Given the description of an element on the screen output the (x, y) to click on. 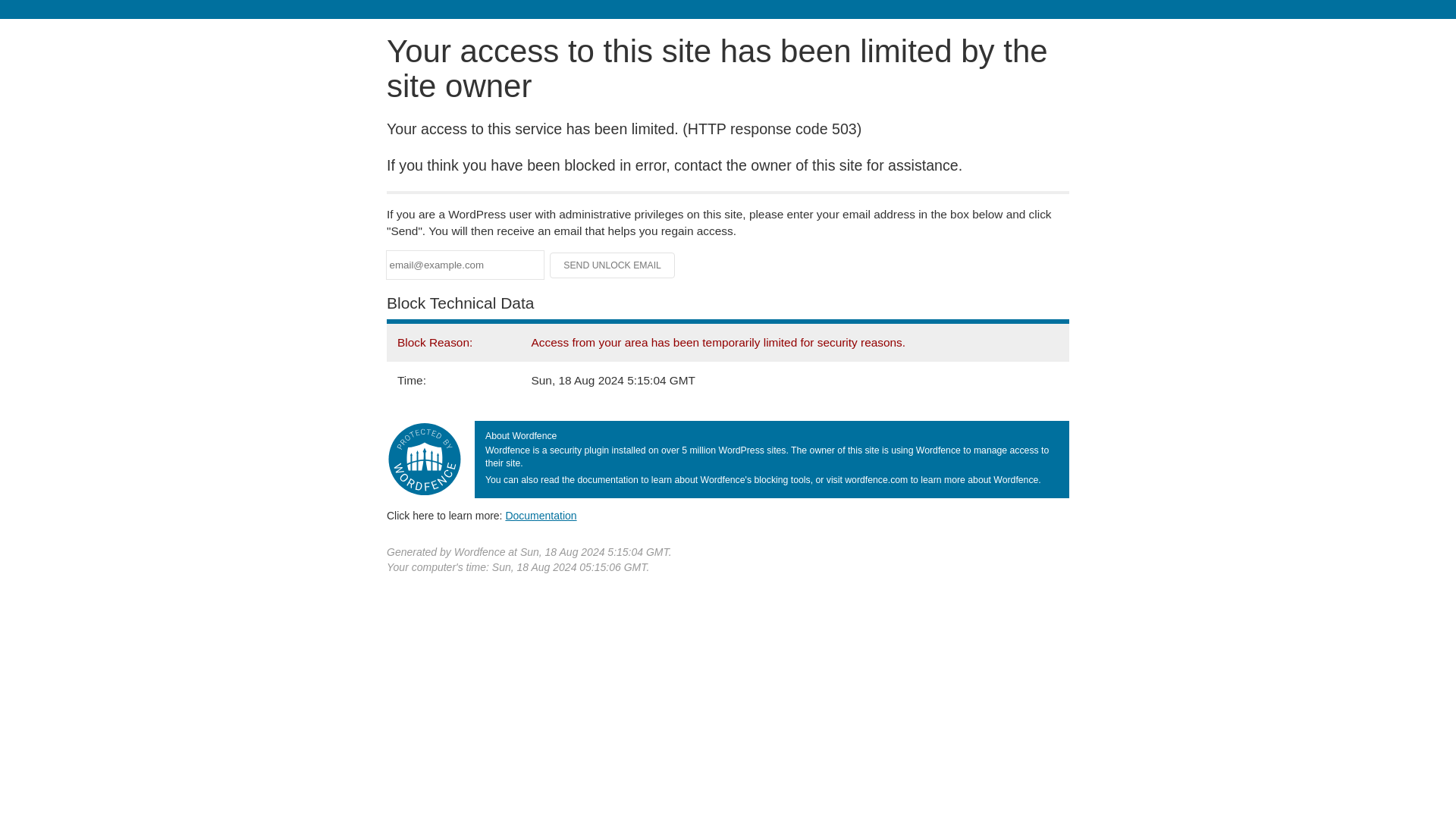
Send Unlock Email (612, 265)
Documentation (540, 515)
Send Unlock Email (612, 265)
